Given the description of an element on the screen output the (x, y) to click on. 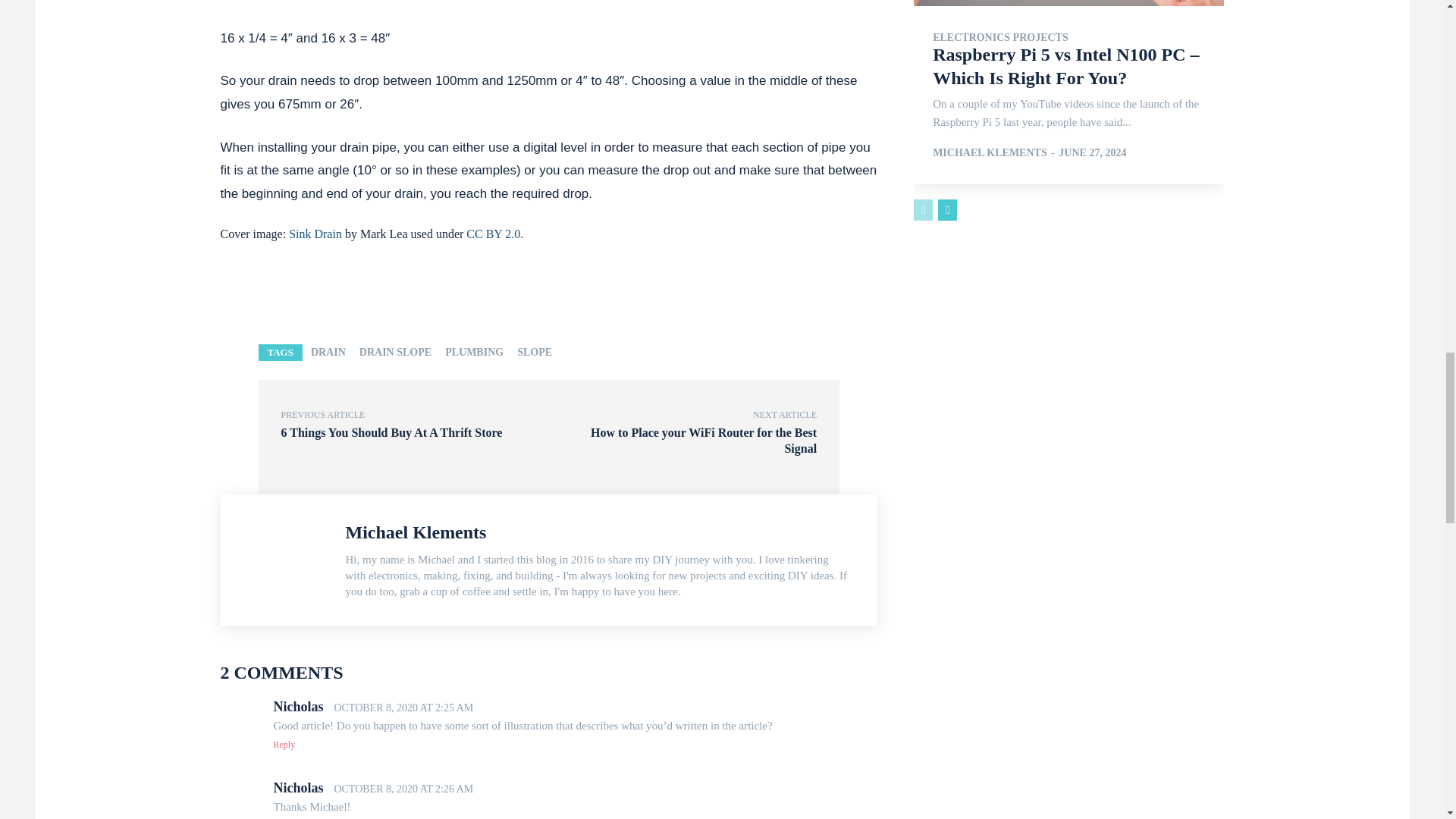
Michael Klements (286, 559)
